Given the description of an element on the screen output the (x, y) to click on. 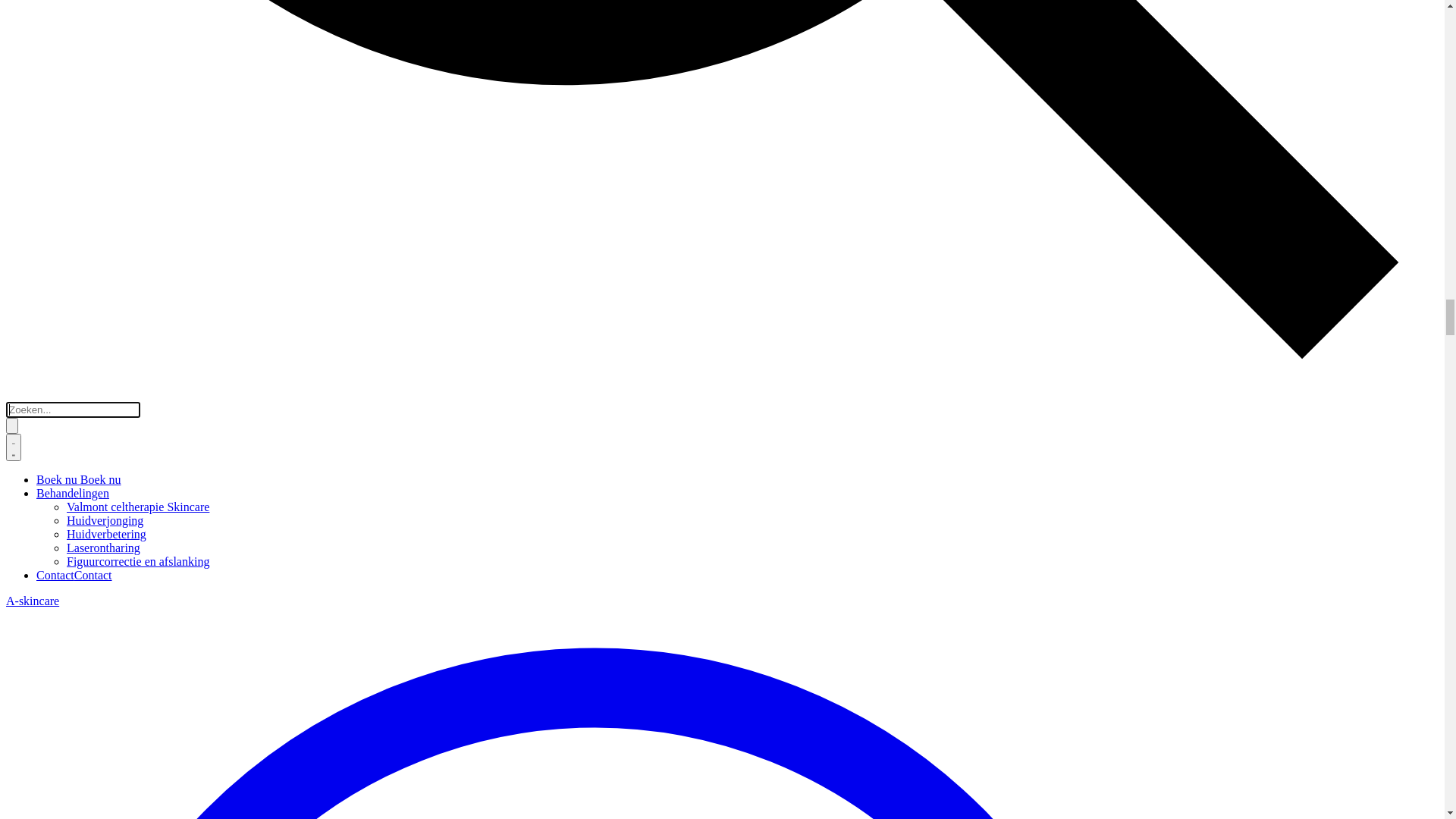
Boek nu Element type: text (26, 41)
Huidverjonging Element type: text (44, 84)
Figuurcorrectie en afslanking Element type: text (77, 125)
Valmont celtherapie Skincare Element type: text (77, 71)
Contact Element type: text (24, 139)
Overslaan naar inhoud Element type: text (61, 12)
Behandelingen Element type: text (45, 57)
Huidverbetering Element type: text (45, 98)
Laserontharing Element type: text (42, 112)
